Given the description of an element on the screen output the (x, y) to click on. 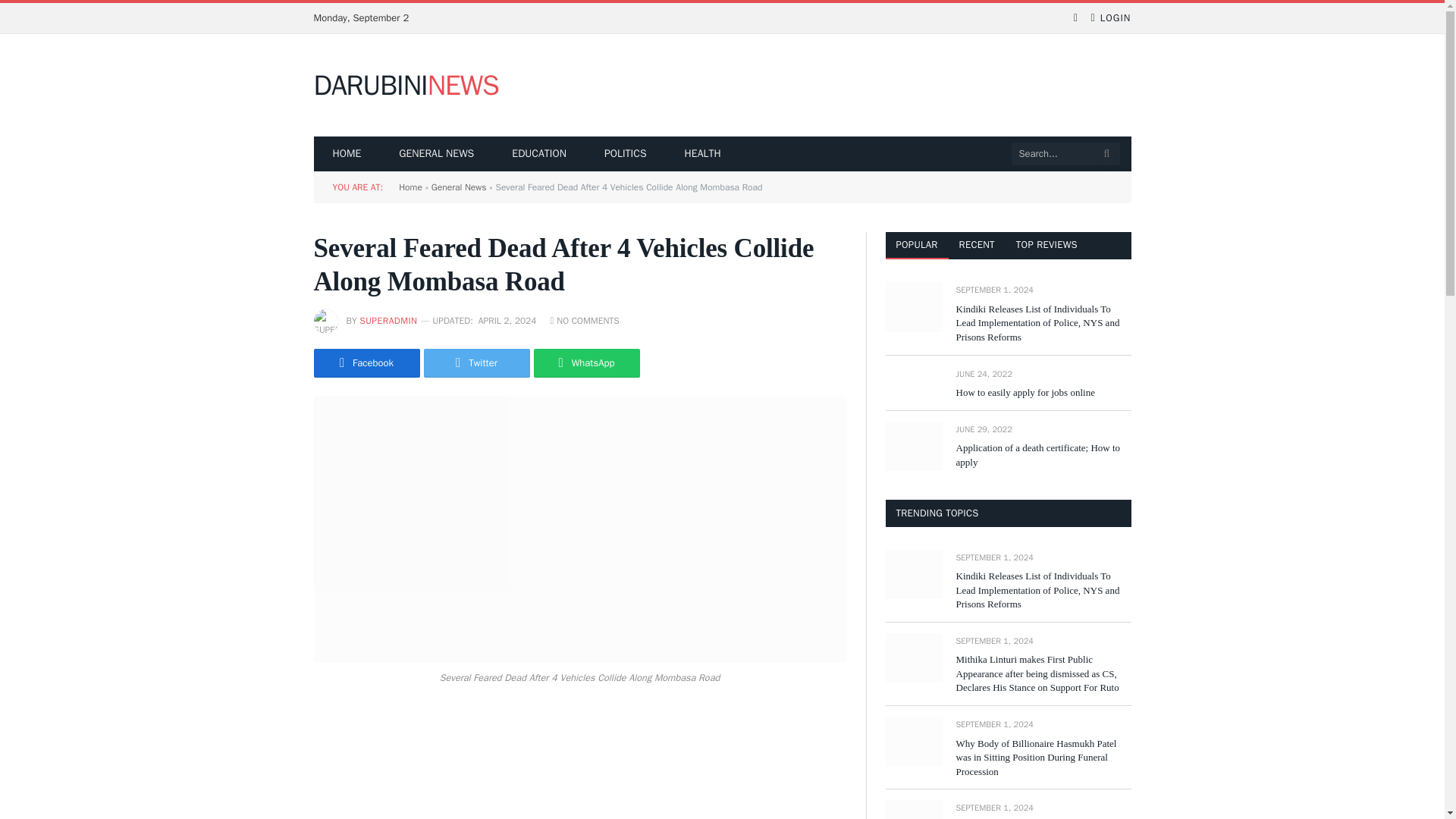
Facebook (367, 362)
EDUCATION (539, 153)
Twitter (476, 362)
Switch to Dark Design - easier on eyes. (1075, 18)
NO COMMENTS (585, 320)
Darubini News (406, 85)
LOGIN (1110, 18)
Share on WhatsApp (587, 362)
Posts by SuperAdmin (387, 320)
